Given the description of an element on the screen output the (x, y) to click on. 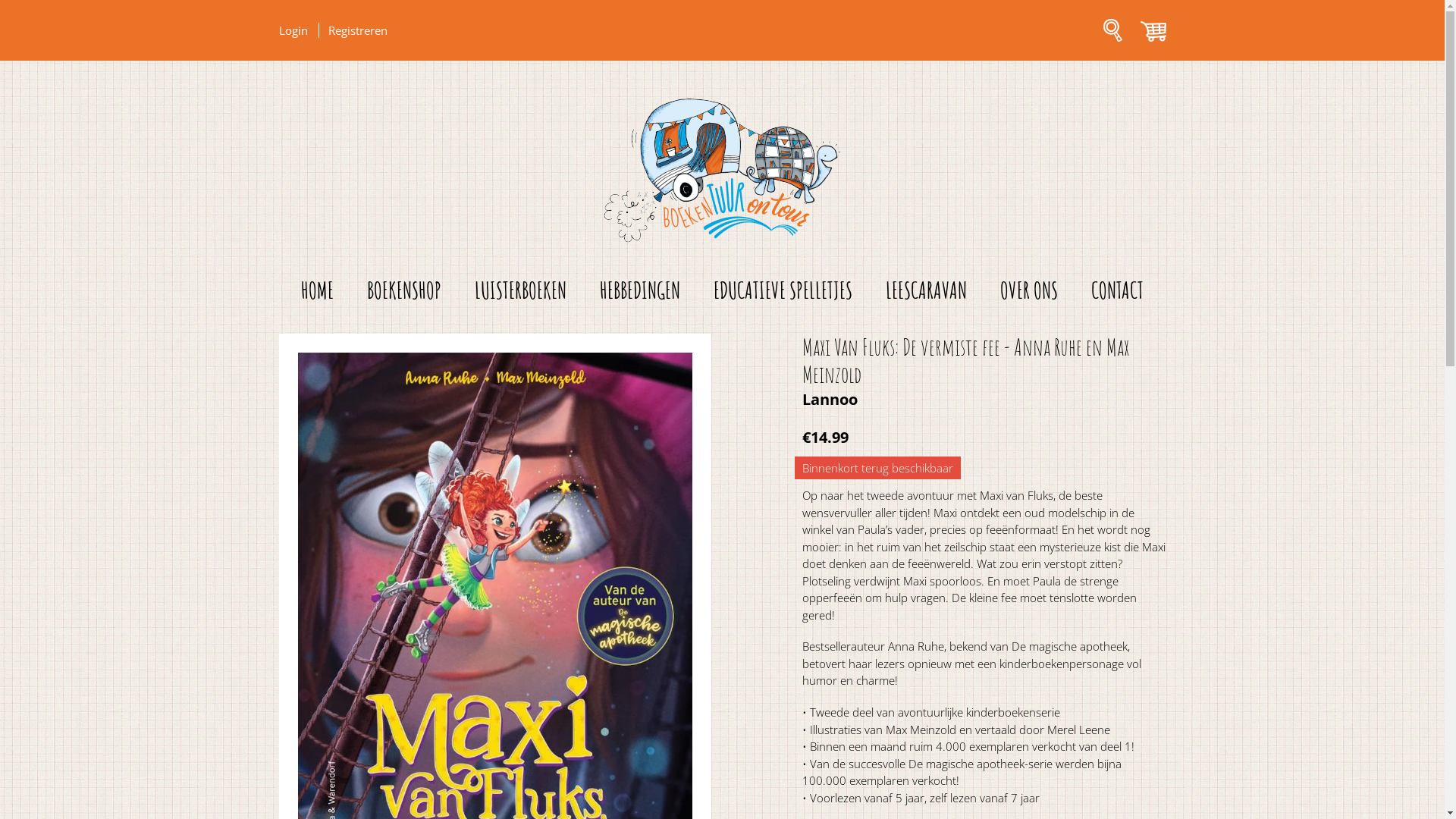
LUISTERBOEKEN Element type: text (520, 290)
Zoeken Element type: text (1113, 36)
CONTACT Element type: text (1117, 290)
Winkelwagen
Winkelwagen Element type: text (1149, 36)
HEBBEDINGEN Element type: text (639, 290)
Registreren Element type: text (356, 29)
LEESCARAVAN Element type: text (925, 290)
HOME Element type: text (317, 290)
OVER ONS Element type: text (1028, 290)
EDUCATIEVE SPELLETJES Element type: text (782, 290)
Login Element type: text (298, 29)
BOEKENSHOP Element type: text (404, 290)
